Given the description of an element on the screen output the (x, y) to click on. 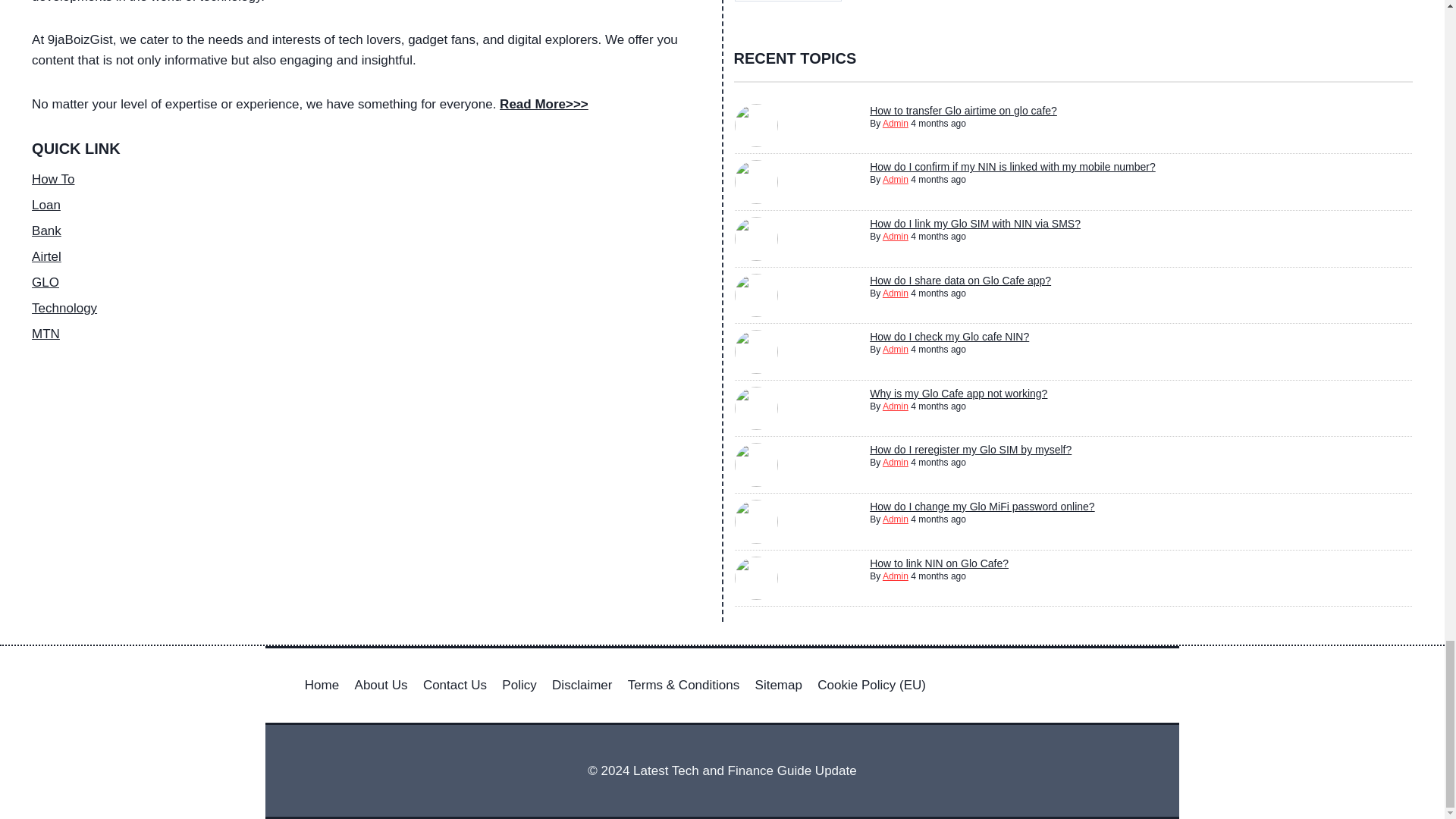
How to transfer Glo airtime on glo cafe? (963, 110)
How do I link my Glo SIM with NIN via SMS? (974, 223)
Admin (895, 179)
Admin (895, 406)
How do I confirm if my NIN is linked with my mobile number? (1012, 166)
How do I check my Glo cafe NIN? (949, 336)
Admin (895, 122)
Admin (895, 235)
Admin (895, 293)
How do I share data on Glo Cafe app? (960, 280)
